Given the description of an element on the screen output the (x, y) to click on. 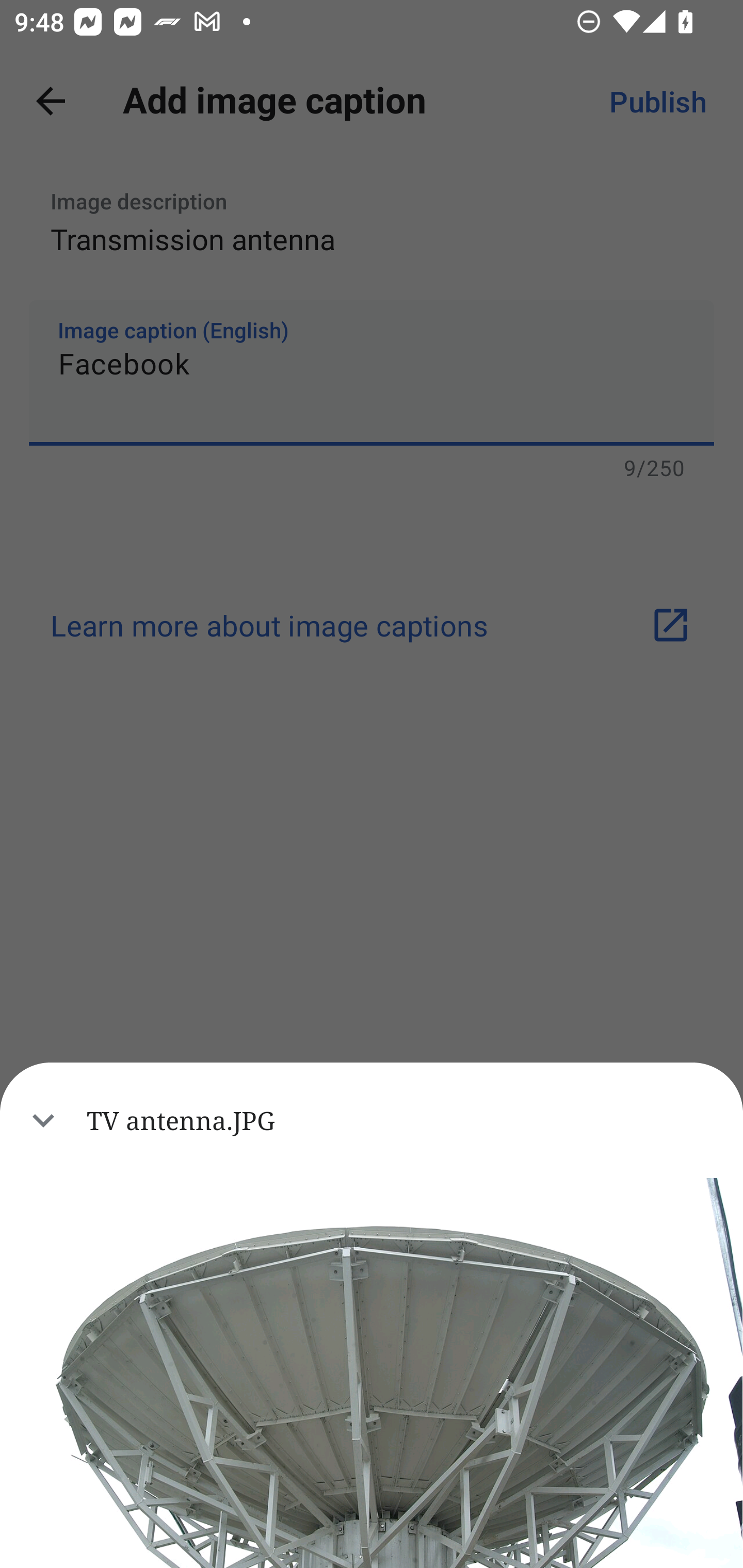
TV antenna.JPG (371, 1120)
